Given the description of an element on the screen output the (x, y) to click on. 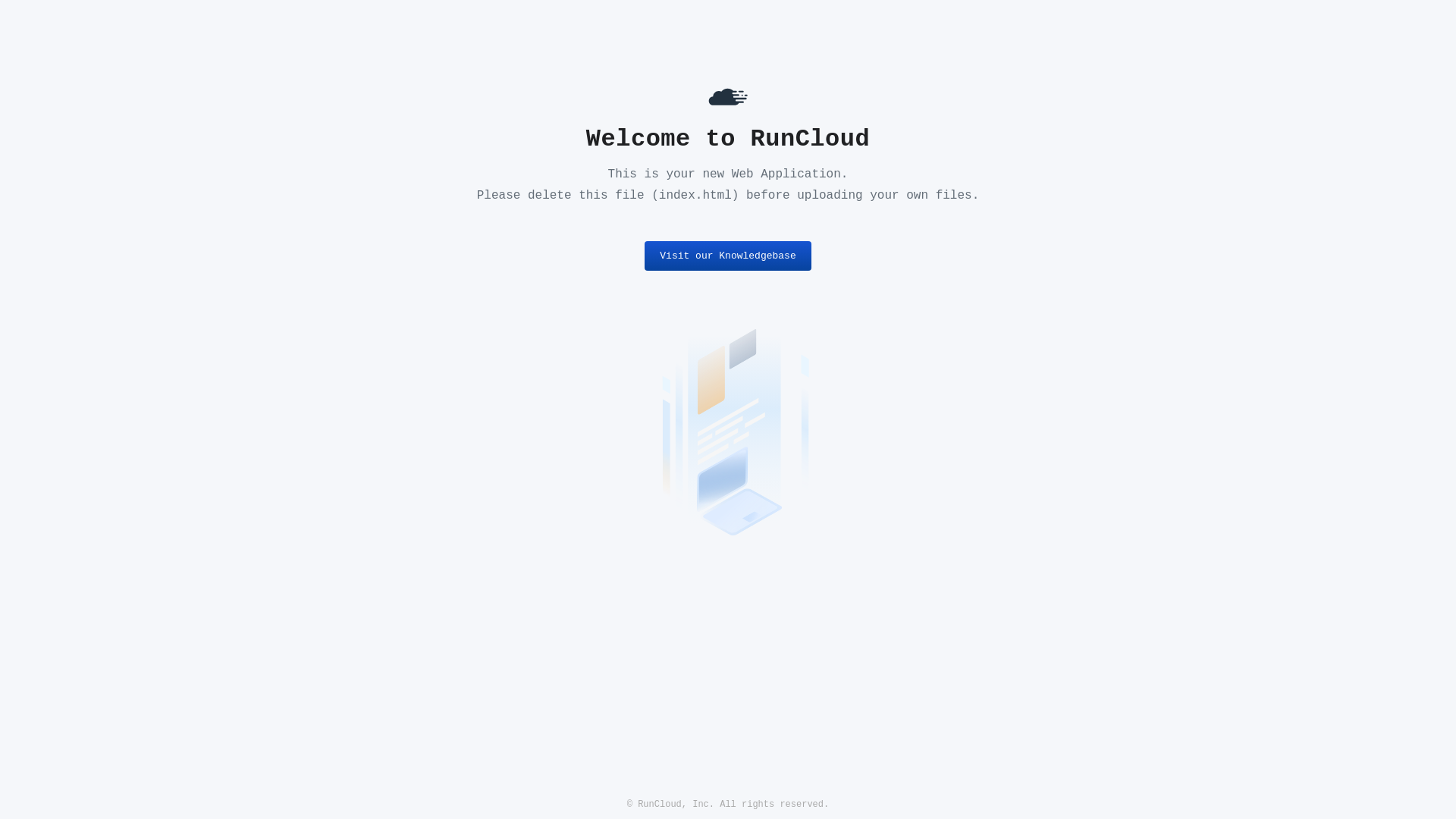
Visit our Knowledgebase Element type: text (727, 255)
